Given the description of an element on the screen output the (x, y) to click on. 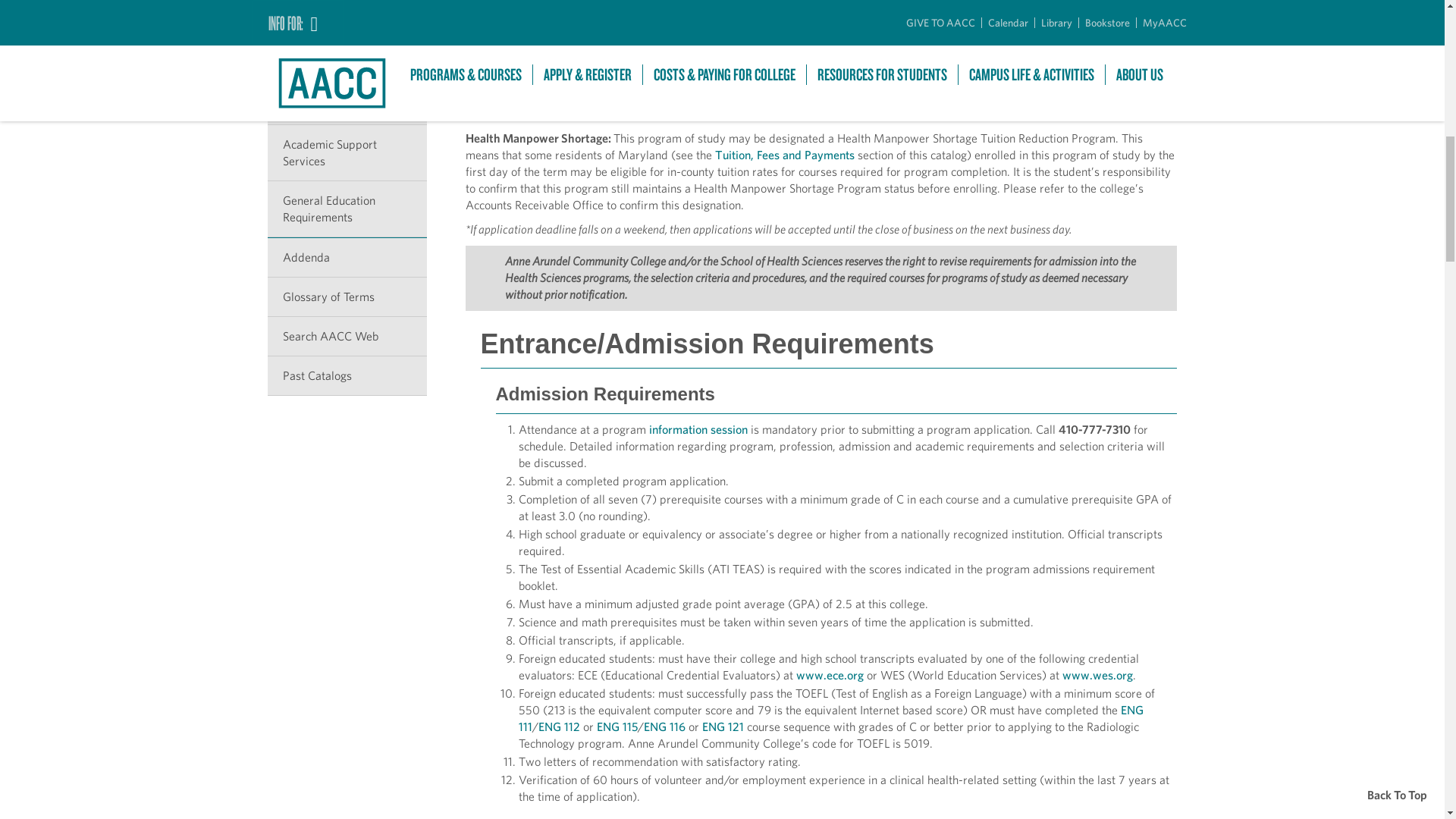
Academic Calendar (346, 65)
General Education Requirements (346, 208)
About our Degrees (346, 25)
Academic Support Services (346, 152)
Continuing Education and Workforce Development (346, 2)
Academic Regulations (346, 105)
